Given the description of an element on the screen output the (x, y) to click on. 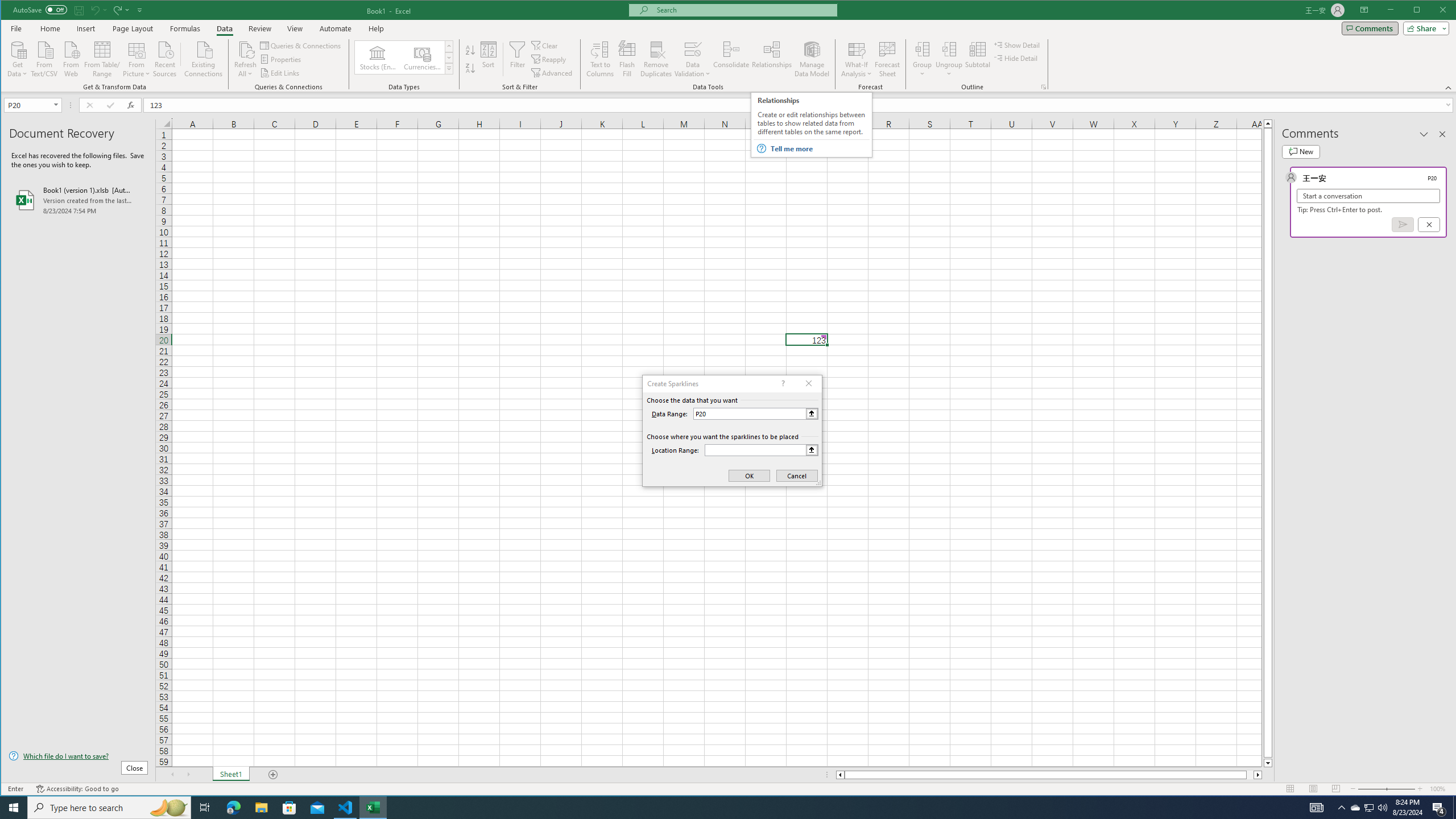
Sort Smallest to Largest (470, 49)
